Given the description of an element on the screen output the (x, y) to click on. 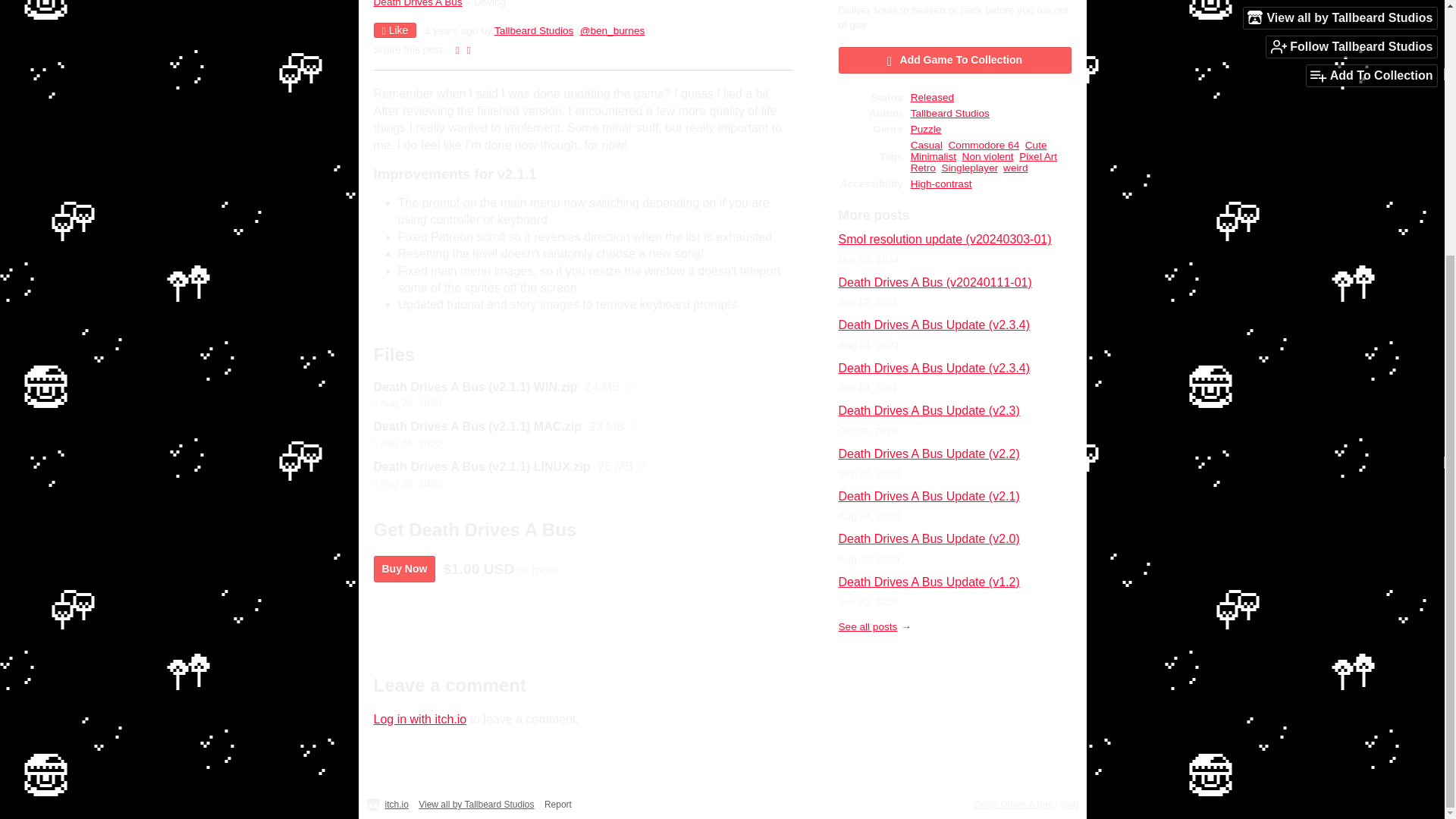
Singleplayer (968, 167)
Log in with itch.io (418, 718)
weird (1015, 167)
Minimalist (933, 156)
Retro (923, 167)
Death Drives A Bus (416, 3)
Casual (926, 144)
High-contrast (941, 183)
Tallbeard Studios (950, 112)
See all posts (874, 626)
